Given the description of an element on the screen output the (x, y) to click on. 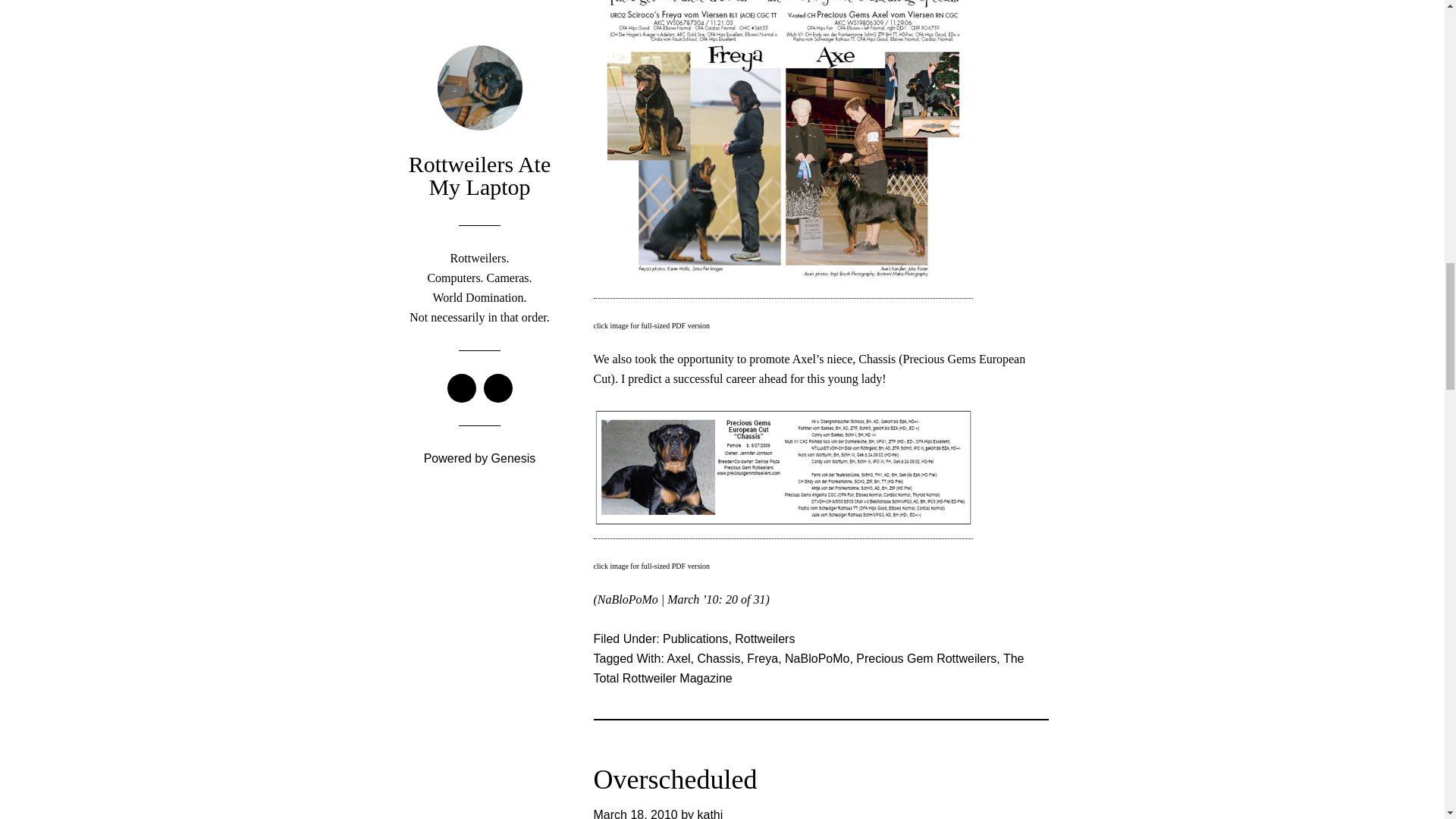
Rottweilers (764, 638)
NaBloPoMo (816, 658)
Axel (678, 658)
Publications (695, 638)
Precious Gem Rottweilers (925, 658)
Chassis (718, 658)
Freya (761, 658)
Overscheduled (674, 779)
The Total Rottweiler Magazine (807, 667)
kathi (709, 813)
